Given the description of an element on the screen output the (x, y) to click on. 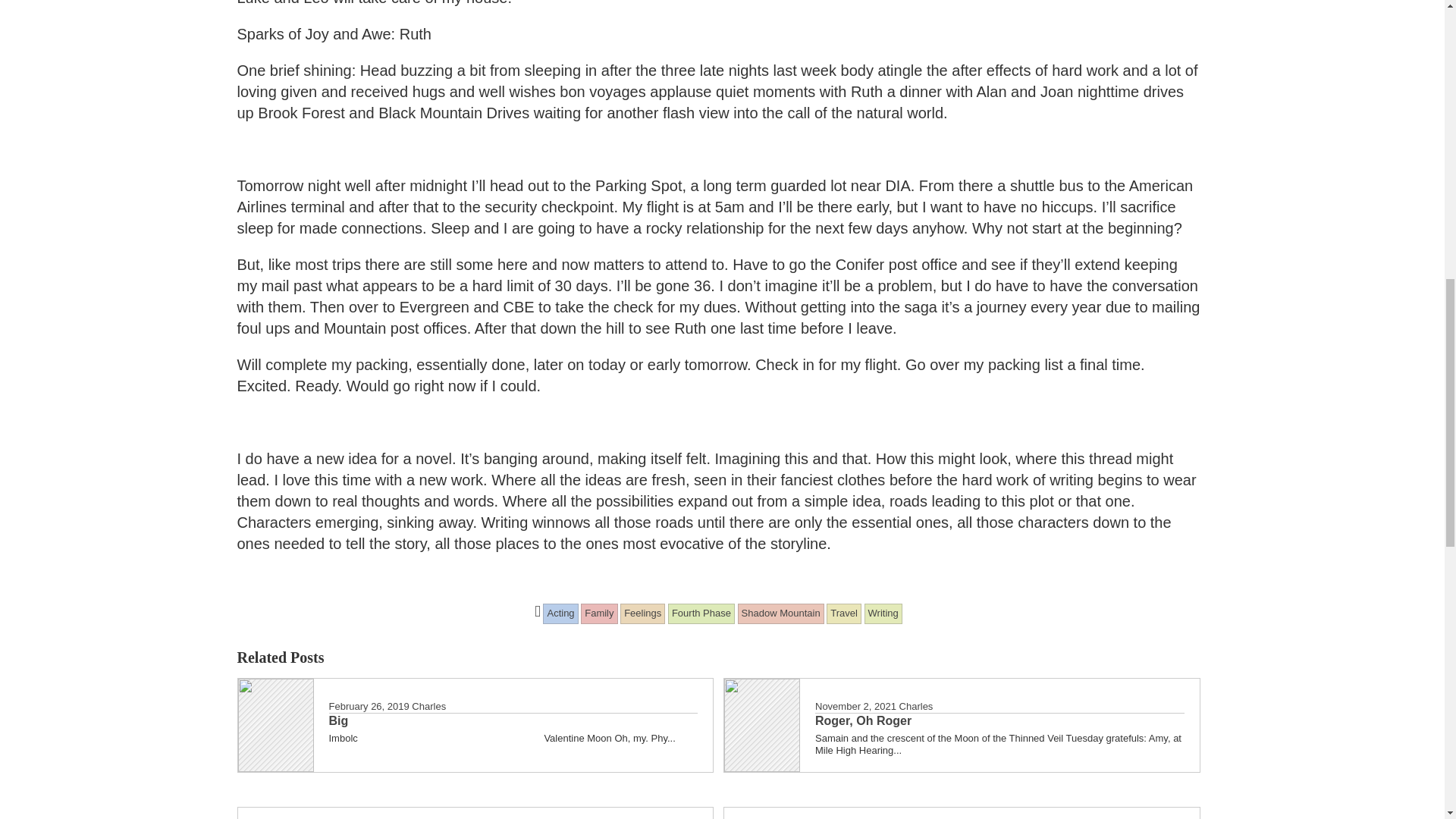
Feelings (642, 613)
Writing (883, 613)
View all posts by Charles (916, 706)
Travel (844, 613)
Family (598, 613)
View all posts by Charles (428, 706)
Shadow Mountain (781, 613)
Roger, Oh Roger (1000, 720)
Charles (428, 706)
Big (513, 720)
Charles (916, 706)
November 2, 2021 (855, 706)
Fourth Phase (701, 613)
